Given the description of an element on the screen output the (x, y) to click on. 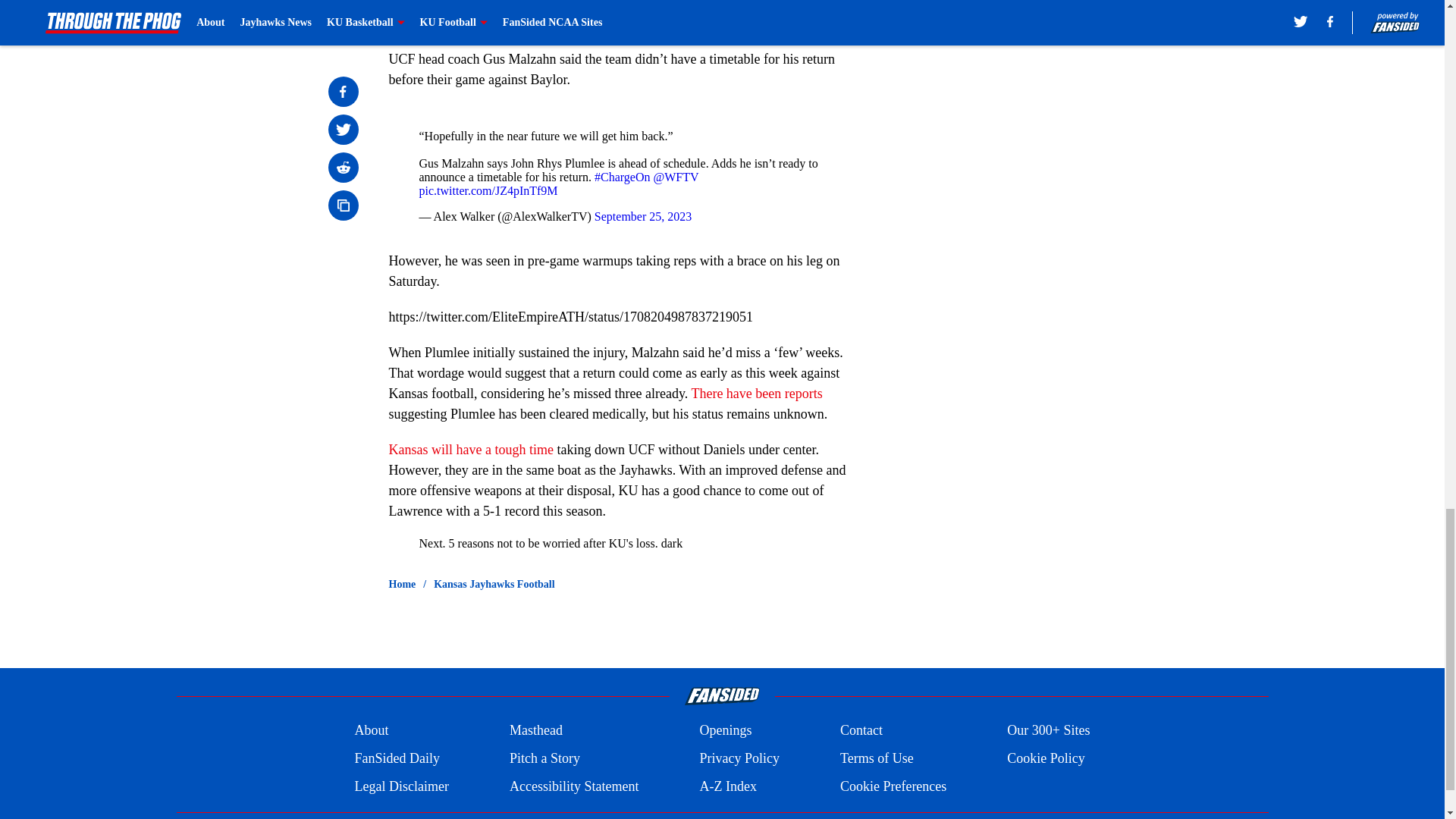
Masthead (535, 730)
Pitch a Story (544, 758)
Privacy Policy (738, 758)
About (370, 730)
Kansas Jayhawks Football (493, 584)
Home (401, 584)
Contact (861, 730)
Terms of Use (877, 758)
Openings (724, 730)
Kansas will have a tough time (470, 449)
September 25, 2023 (642, 215)
Cookie Policy (1045, 758)
There have been reports (756, 393)
FanSided Daily (396, 758)
